Given the description of an element on the screen output the (x, y) to click on. 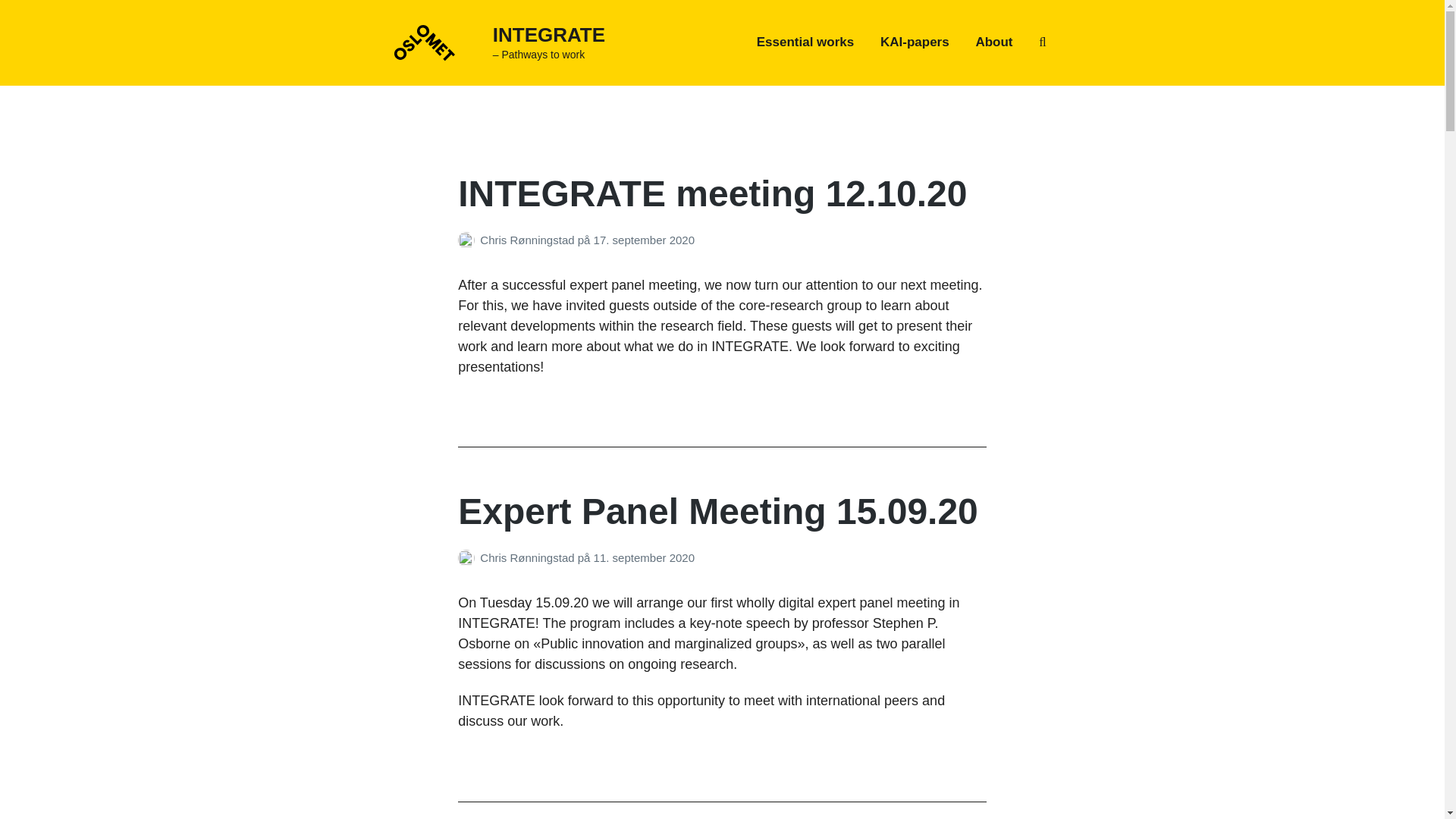
INTEGRATE meeting 12.10.20 (712, 193)
INTEGRATE (549, 34)
Expert Panel Meeting 15.09.20 (718, 511)
Essential works (805, 42)
About (993, 42)
KAI-papers (914, 42)
